Given the description of an element on the screen output the (x, y) to click on. 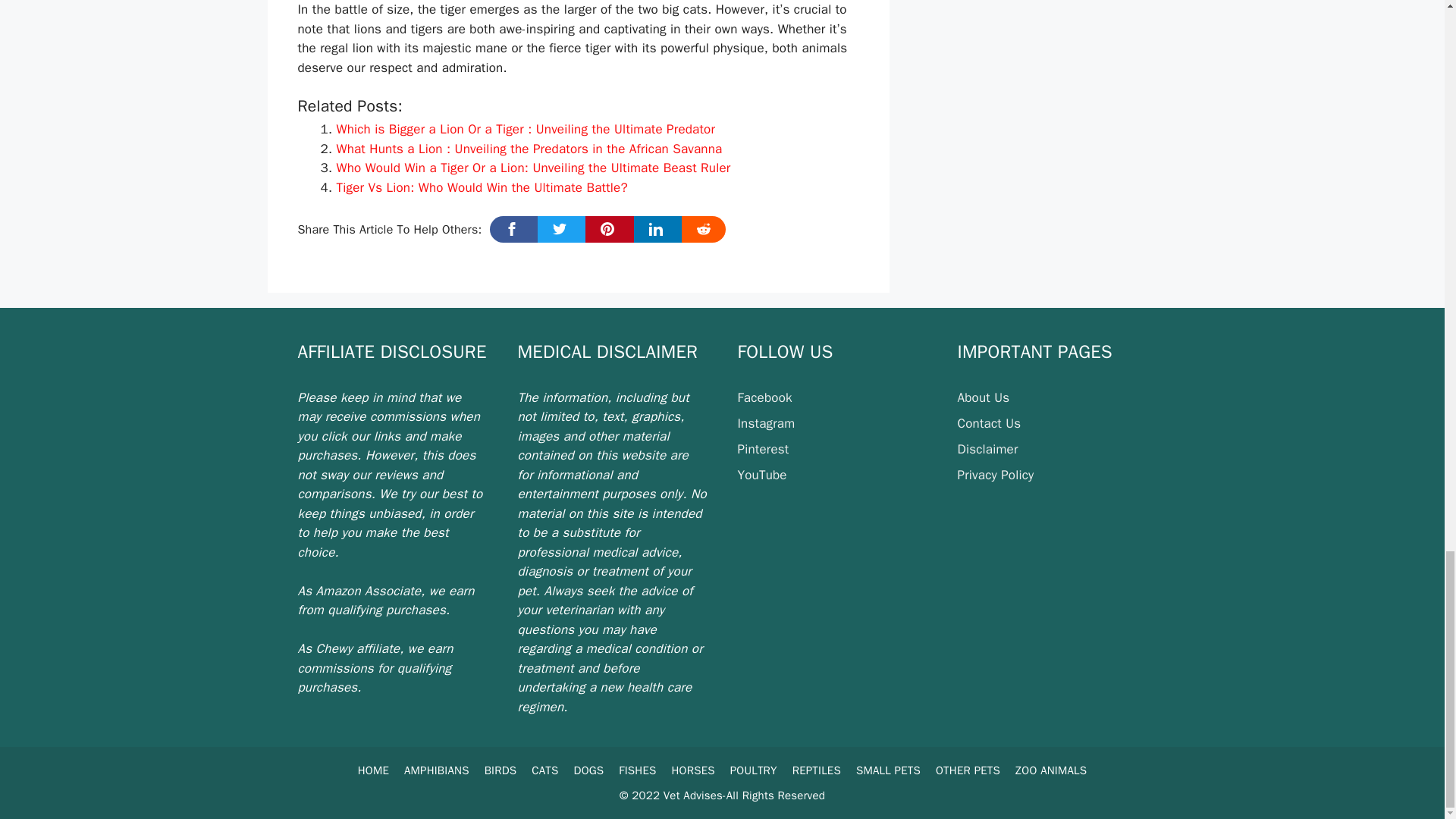
Tiger Vs Lion: Who Would Win the Ultimate Battle? (481, 187)
Tiger Vs Lion: Who Would Win the Ultimate Battle? (481, 187)
